Given the description of an element on the screen output the (x, y) to click on. 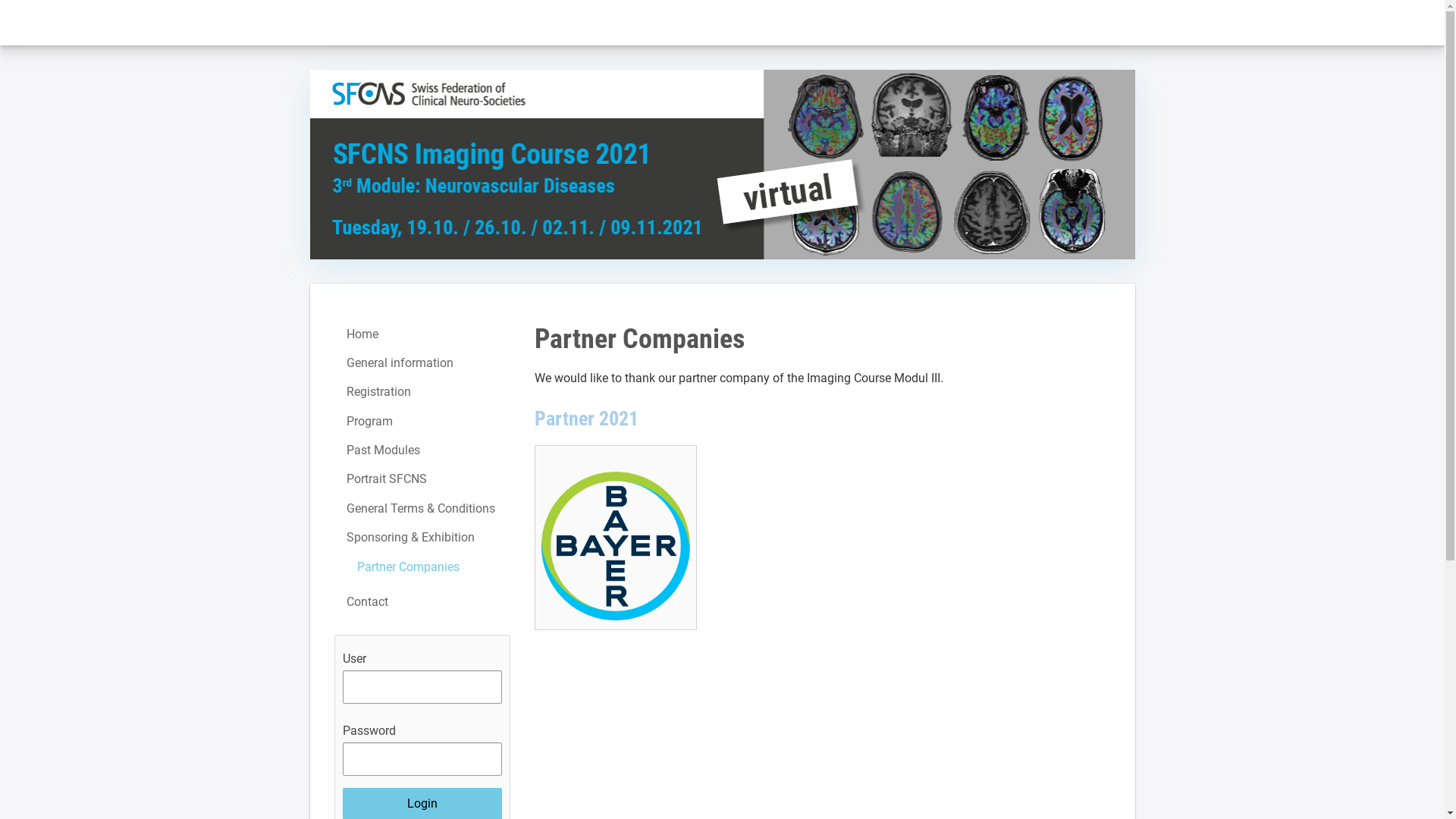
Sponsoring & Exhibition Element type: text (421, 537)
Partner Companies Element type: text (421, 566)
Contact Element type: text (421, 601)
Portrait SFCNS Element type: text (421, 478)
Past Modules Element type: text (421, 450)
General Terms & Conditions Element type: text (421, 508)
Home Element type: text (421, 334)
Program Element type: text (421, 421)
General information Element type: text (421, 362)
Registration Element type: text (421, 391)
